Given the description of an element on the screen output the (x, y) to click on. 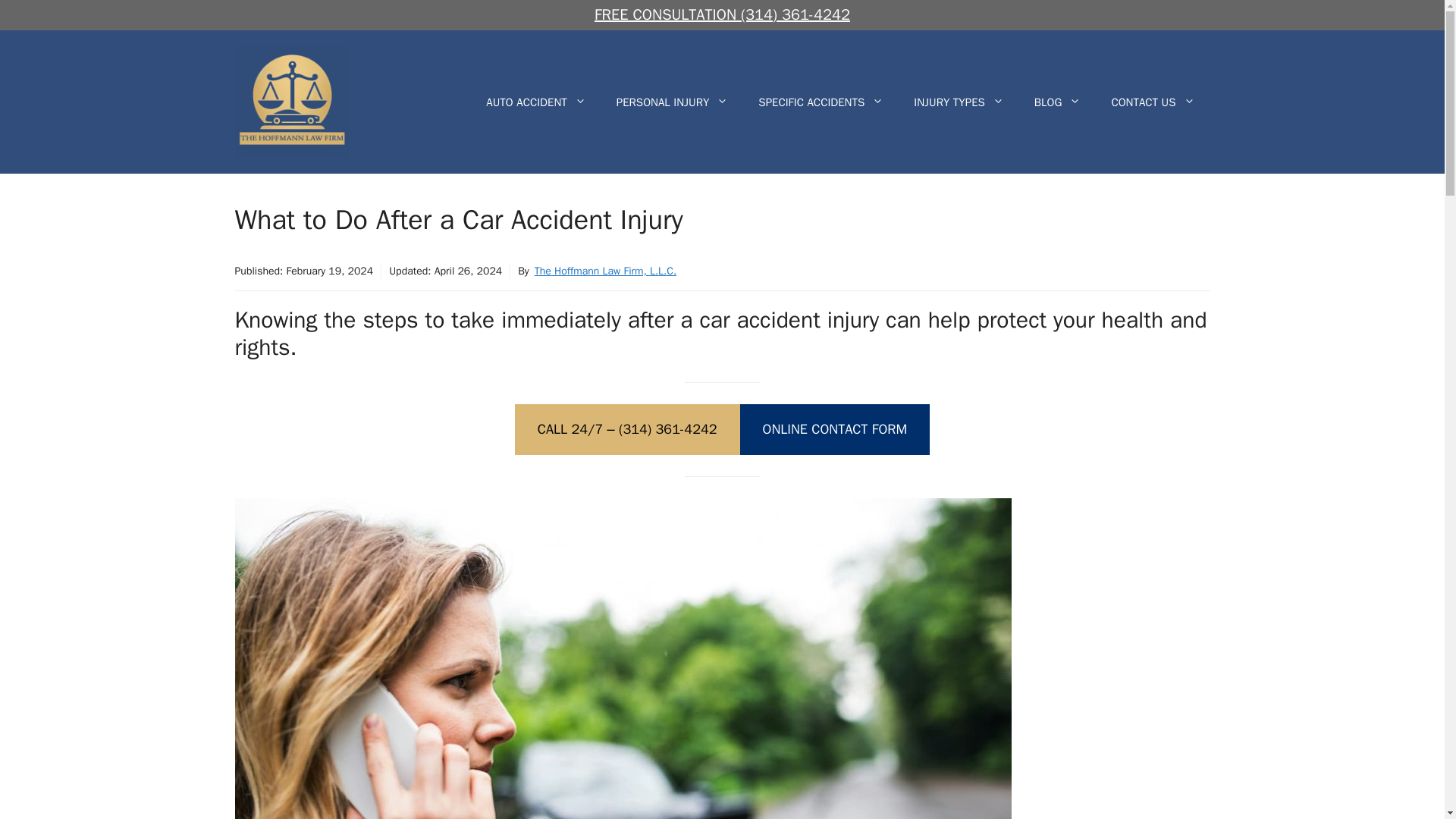
INJURY TYPES (958, 102)
SPECIFIC ACCIDENTS (820, 102)
PERSONAL INJURY (672, 102)
AUTO ACCIDENT (534, 102)
